Given the description of an element on the screen output the (x, y) to click on. 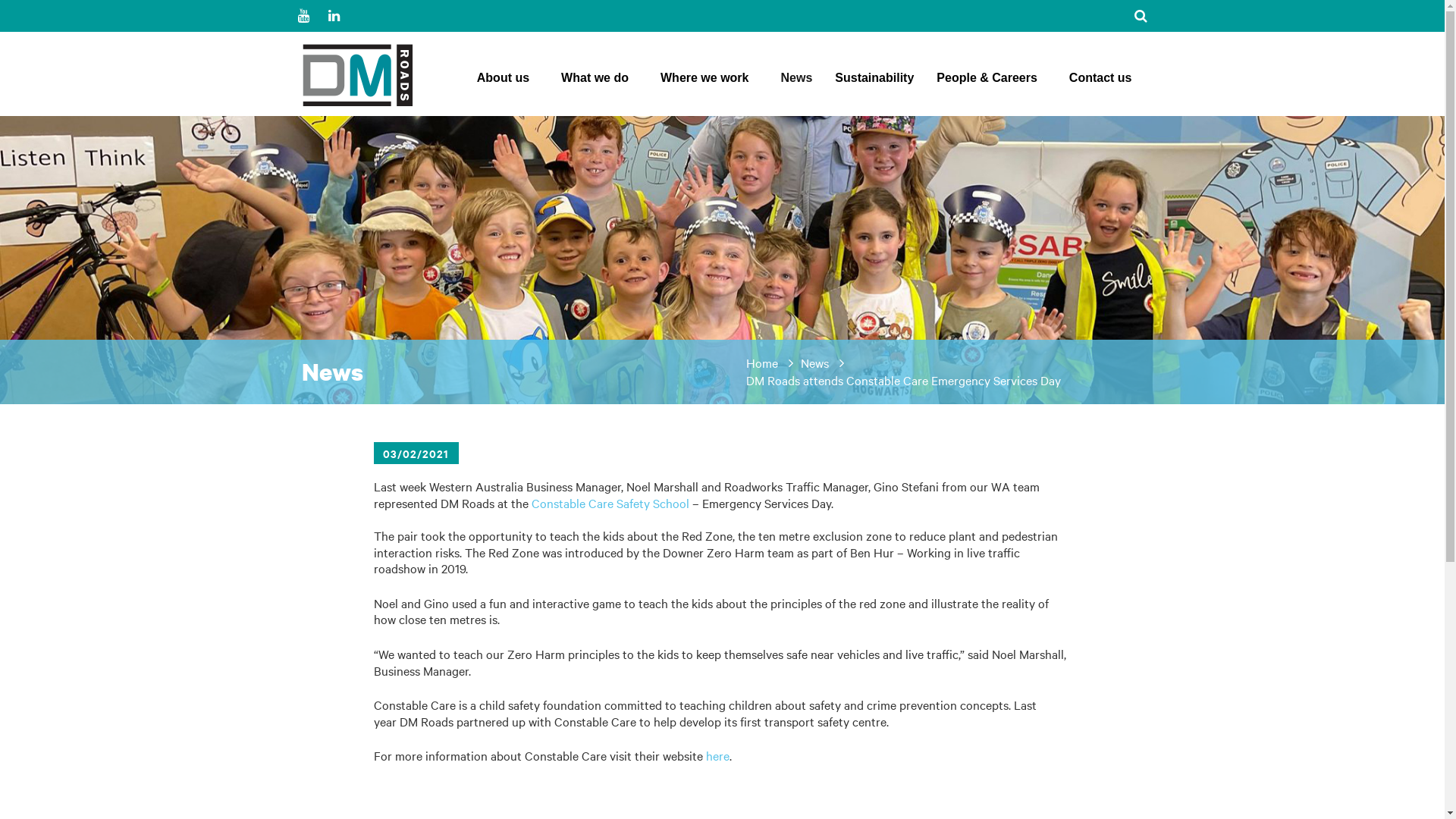
  Element type: text (342, 14)
News Element type: text (814, 362)
  Element type: text (312, 14)
Contact us Element type: text (1100, 82)
Sustainability Element type: text (873, 82)
Home Element type: text (762, 362)
Constable Care Safety School Element type: text (609, 502)
What we do Element type: text (599, 82)
People & Careers Element type: text (991, 82)
Where we work Element type: text (708, 82)
News Element type: text (796, 82)
About us Element type: text (507, 82)
here Element type: text (716, 754)
